Given the description of an element on the screen output the (x, y) to click on. 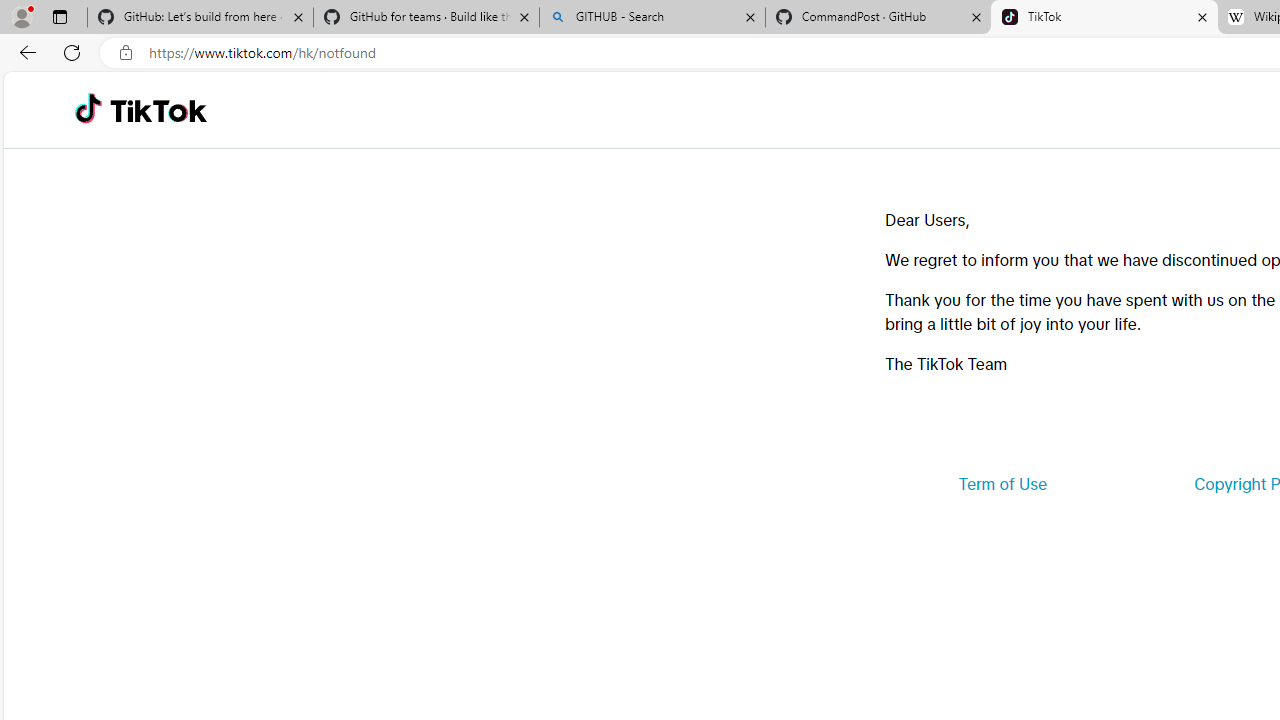
Term of Use (1002, 484)
GITHUB - Search (652, 17)
TikTok (1104, 17)
TikTok (158, 110)
